Given the description of an element on the screen output the (x, y) to click on. 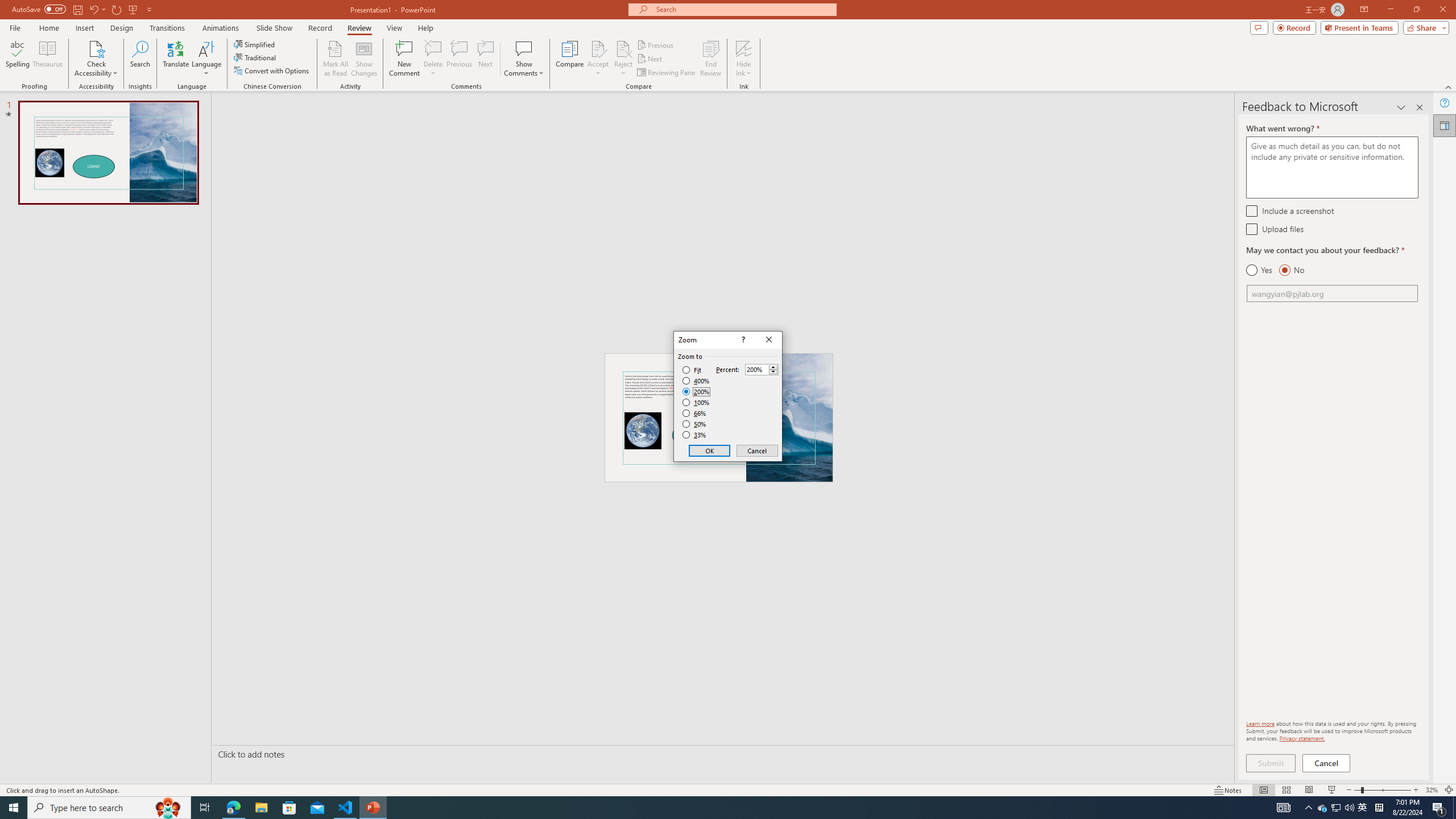
100% (696, 402)
Percent (756, 369)
Include a screenshot (1251, 210)
Learn more (1260, 723)
